Given the description of an element on the screen output the (x, y) to click on. 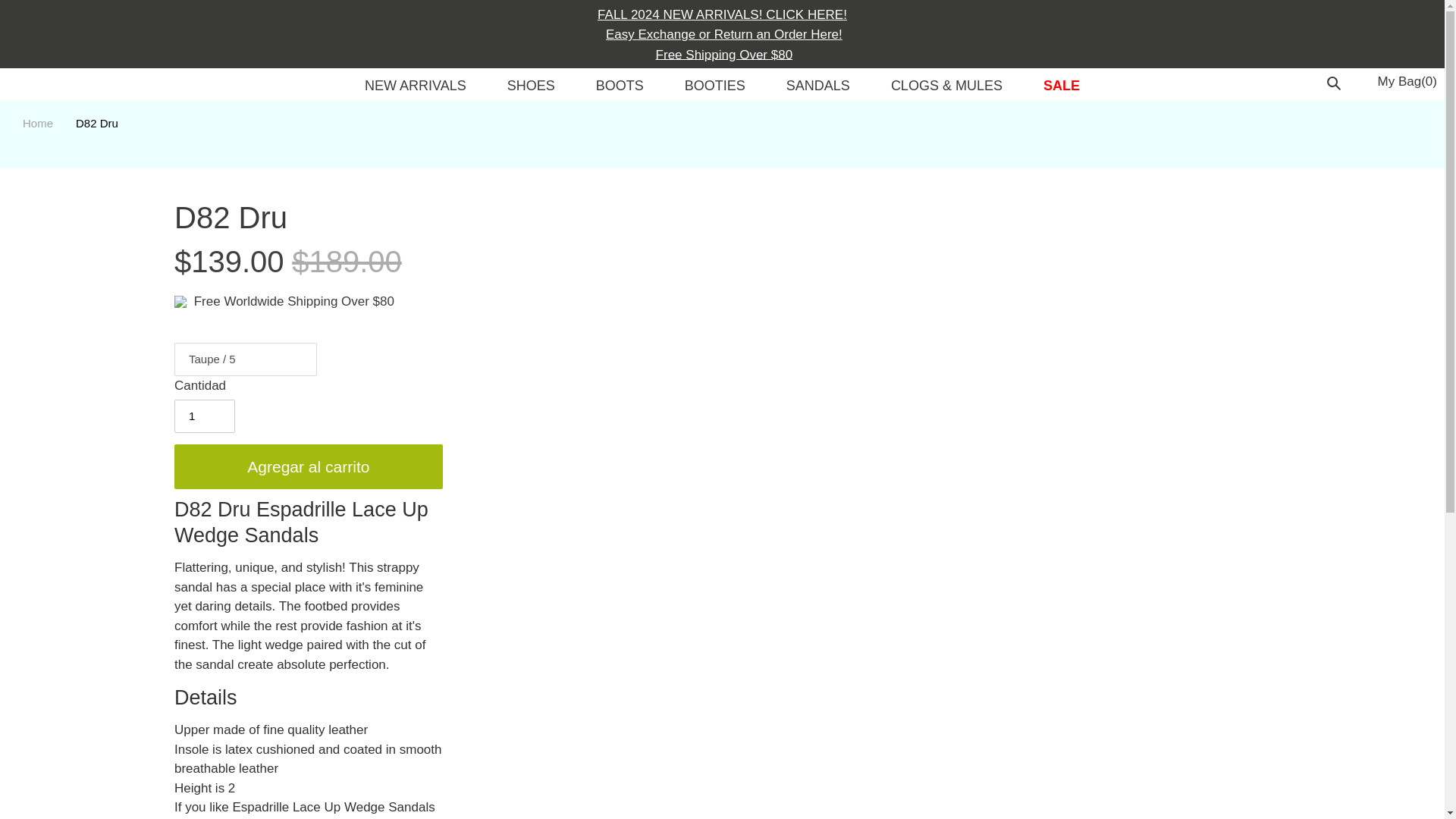
FALL 2024 NEW ARRIVALS! CLICK HERE! (721, 13)
Easy Exchange or Return an Order Here! (722, 33)
SALE (1061, 87)
1 (204, 416)
BOOTIES (714, 87)
NEW ARRIVALS (414, 87)
Buscar (1336, 81)
BOOTS (619, 87)
SHOES (530, 87)
SANDALS (817, 87)
